Given the description of an element on the screen output the (x, y) to click on. 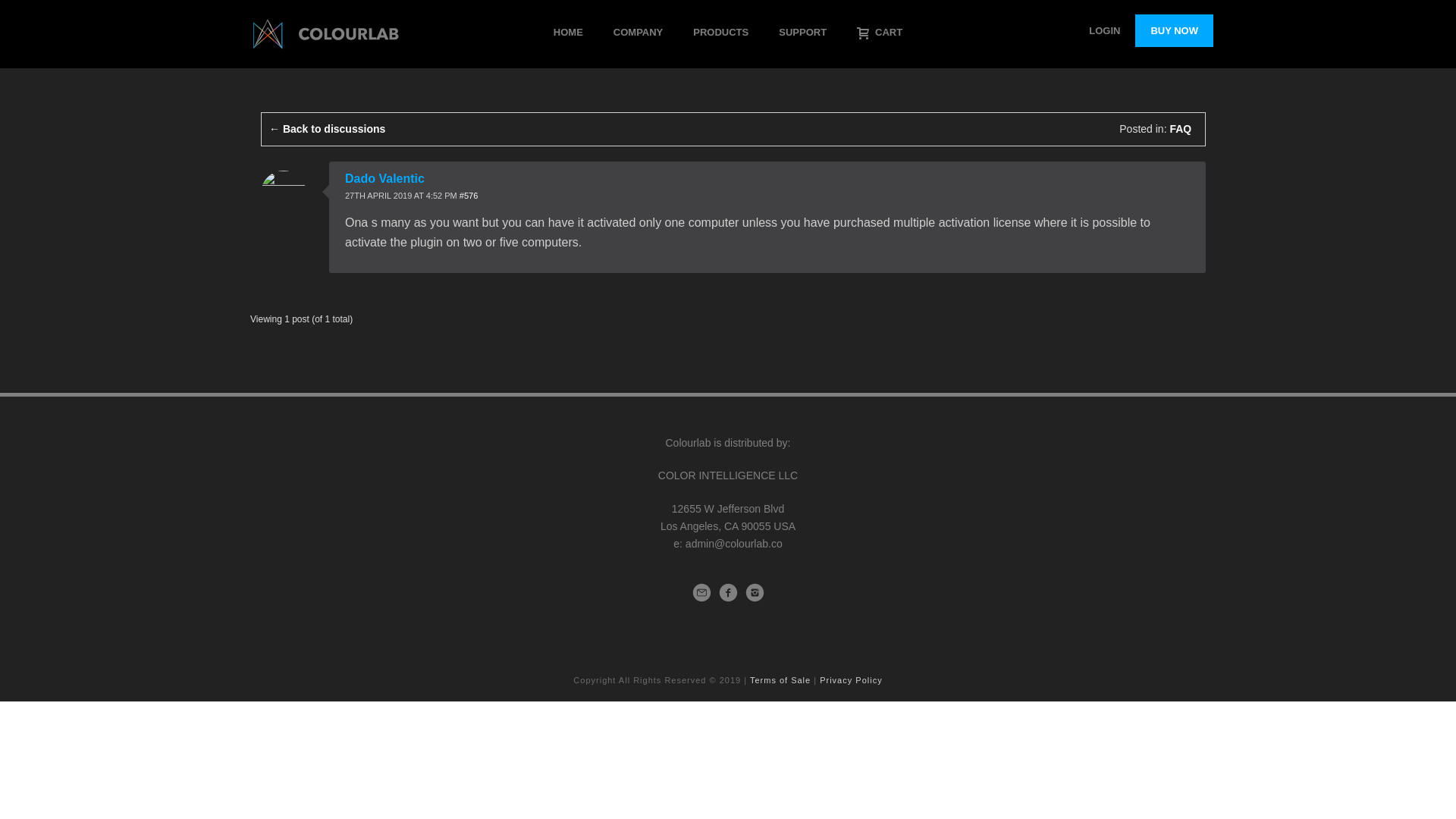
CART (879, 33)
COMPANY (638, 33)
PRODUCTS (720, 33)
FAQ (1180, 128)
COMPANY (638, 33)
PRODUCTS (720, 33)
On how many computers can I install Colourlab on (468, 194)
Privacy Policy (850, 679)
SUPPORT (801, 33)
BUY NOW (1173, 30)
Terms of Sale (779, 679)
LOGIN (1104, 30)
CART (879, 33)
BUY NOW (1173, 30)
SUPPORT (801, 33)
